Given the description of an element on the screen output the (x, y) to click on. 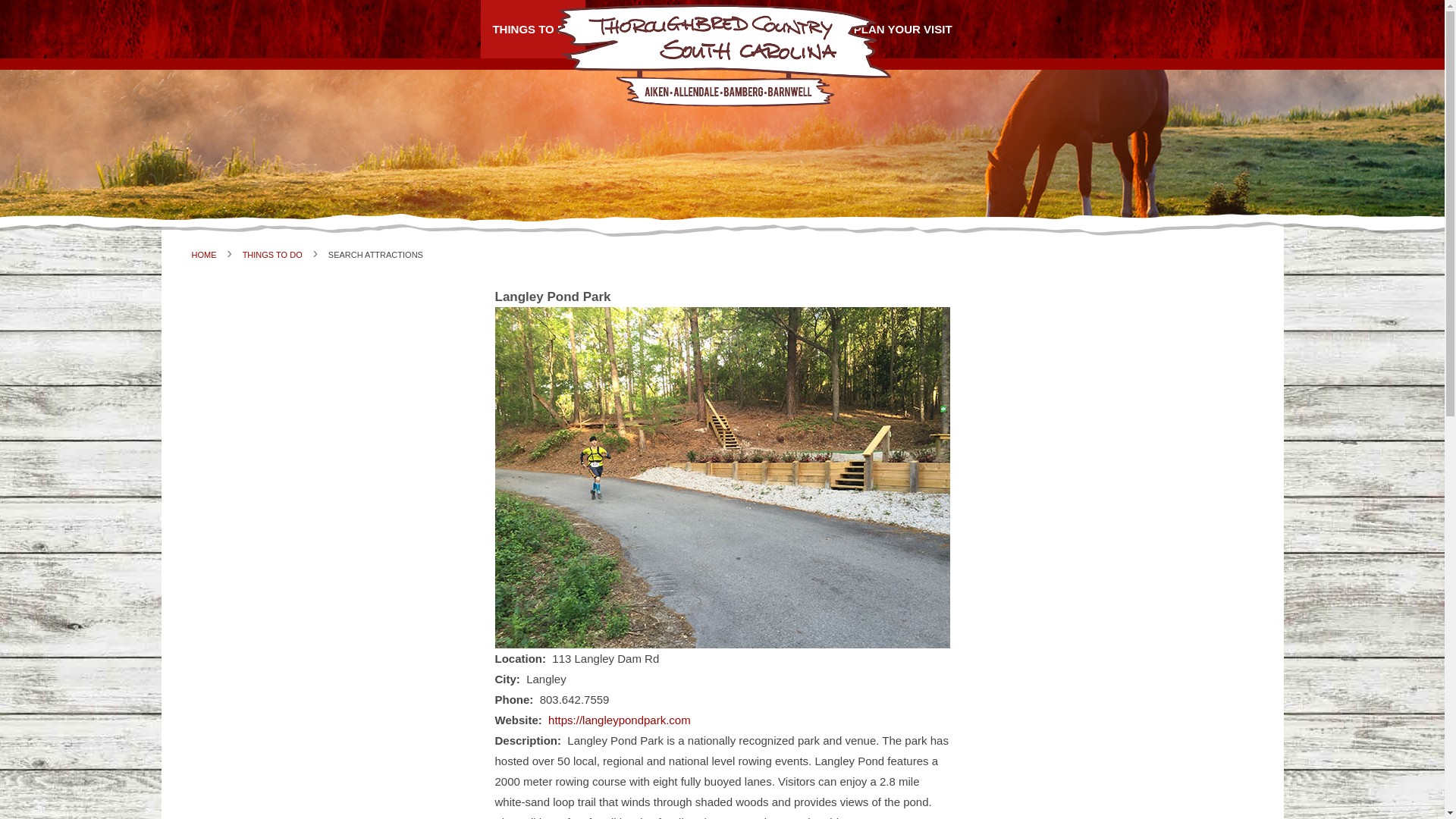
WHERE TO STAY (653, 29)
THINGS TO DO (532, 29)
PLAN YOUR VISIT (903, 29)
Thoroughbred Country (721, 55)
HOME (202, 254)
THINGS TO DO (272, 254)
WHERE TO EAT (776, 29)
